Given the description of an element on the screen output the (x, y) to click on. 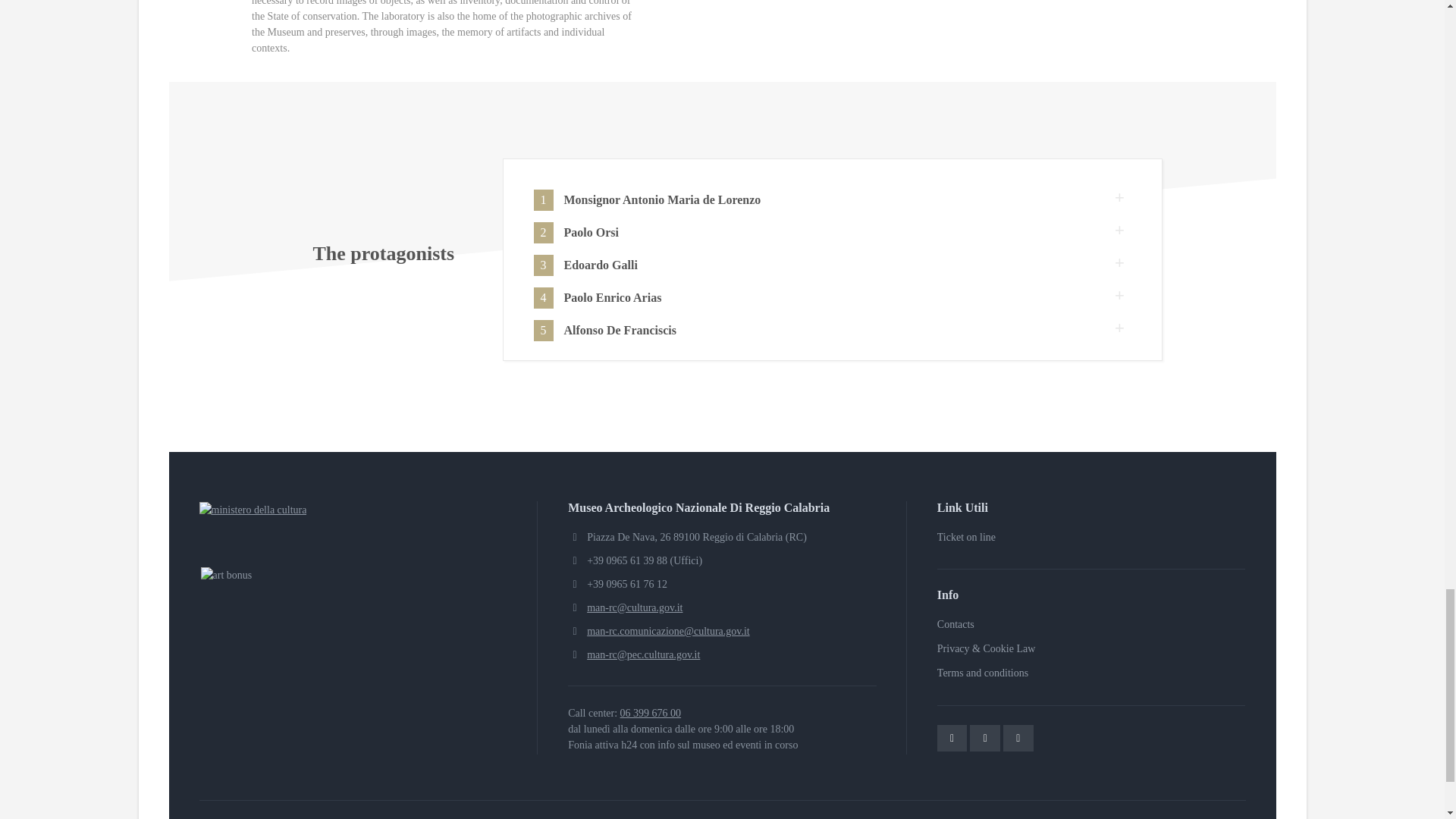
Twitter (952, 737)
Facebook (984, 737)
Instagram (1018, 737)
